Given the description of an element on the screen output the (x, y) to click on. 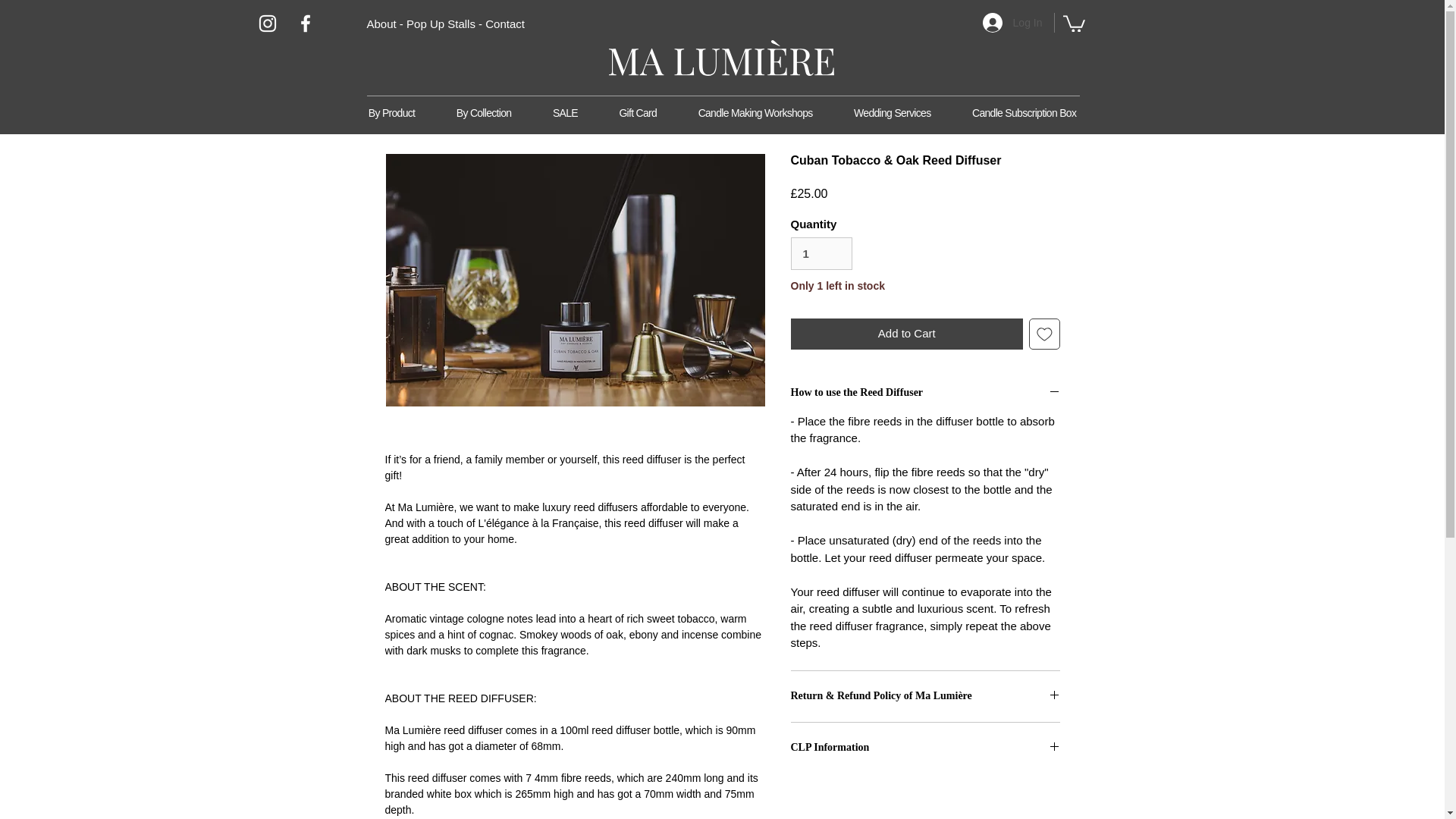
Contact (504, 23)
How to use the Reed Diffuser (924, 392)
Pop Up Stalls (441, 23)
Add to Cart (906, 333)
Log In (1012, 22)
Candle Making Workshops (754, 113)
About (381, 23)
Wedding Services (892, 113)
1 (820, 254)
SALE (565, 113)
Gift Card (637, 113)
CLP Information (924, 748)
Candle Subscription Box (1024, 113)
